Given the description of an element on the screen output the (x, y) to click on. 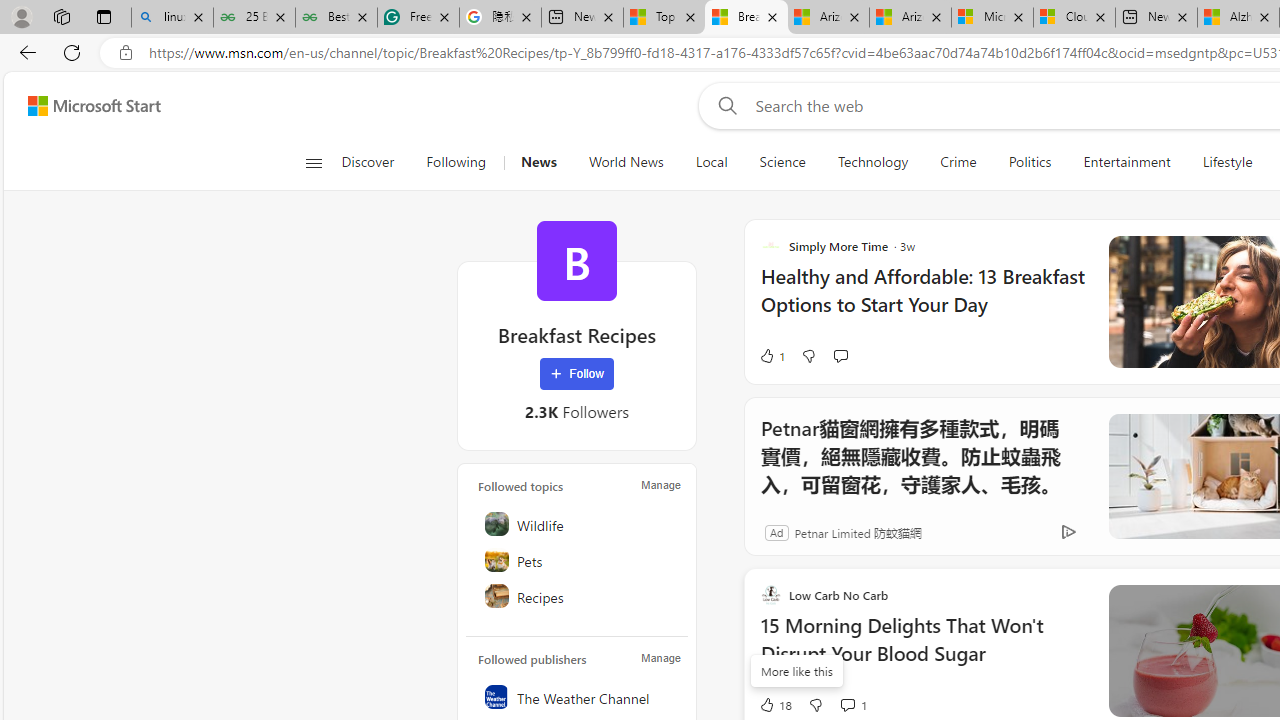
Following (456, 162)
Lifestyle (1227, 162)
Politics (1030, 162)
15 Morning Delights That Won't Disrupt Your Blood Sugar (922, 650)
Crime (958, 162)
Following (457, 162)
Microsoft Services Agreement (992, 17)
linux basic - Search (171, 17)
Dislike (815, 704)
News (538, 162)
Personal Profile (21, 16)
